Given the description of an element on the screen output the (x, y) to click on. 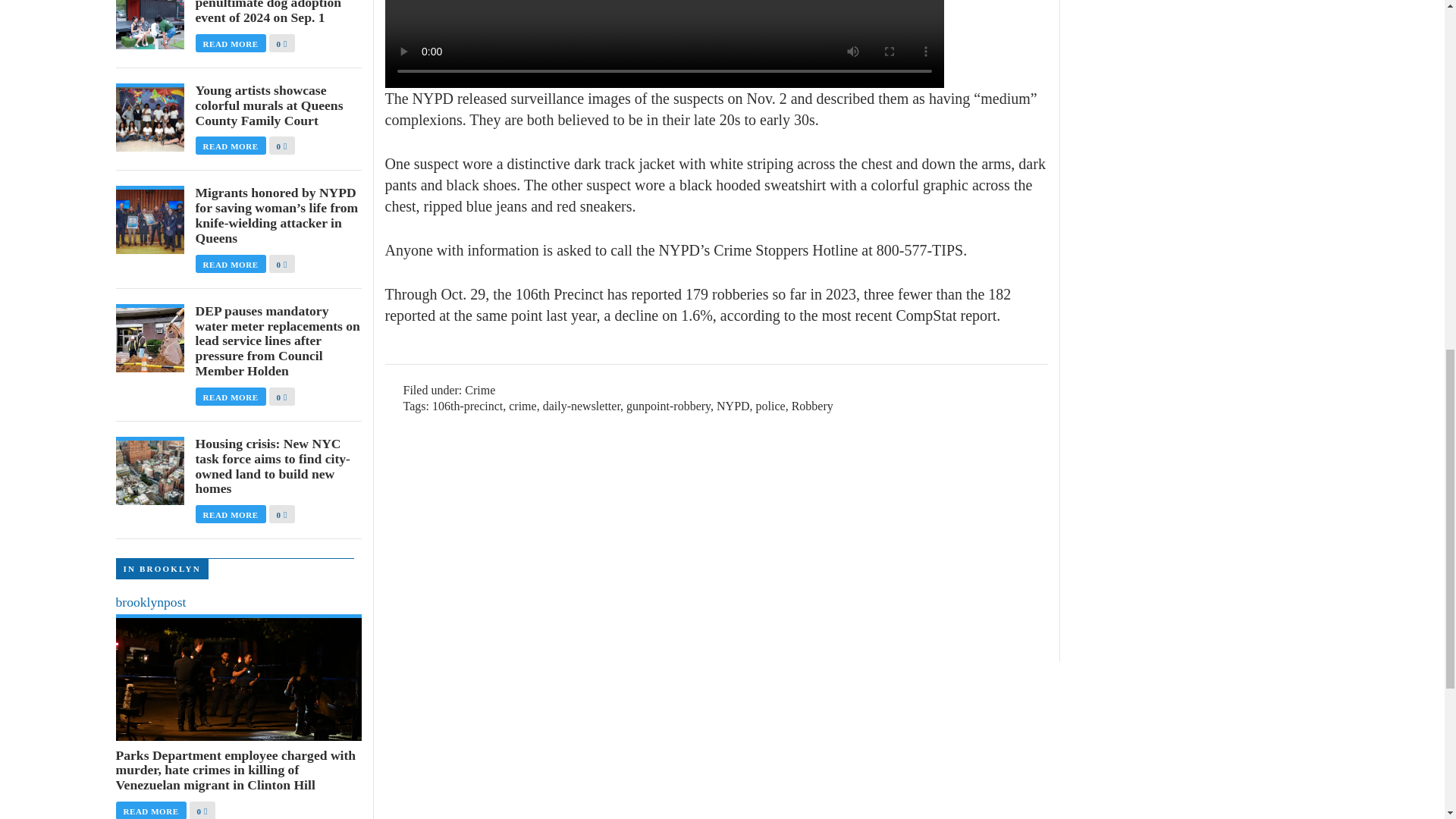
gunpoint-robbery (668, 405)
106th-precinct (467, 405)
Crime (479, 390)
crime (521, 405)
daily-newsletter (581, 405)
